Given the description of an element on the screen output the (x, y) to click on. 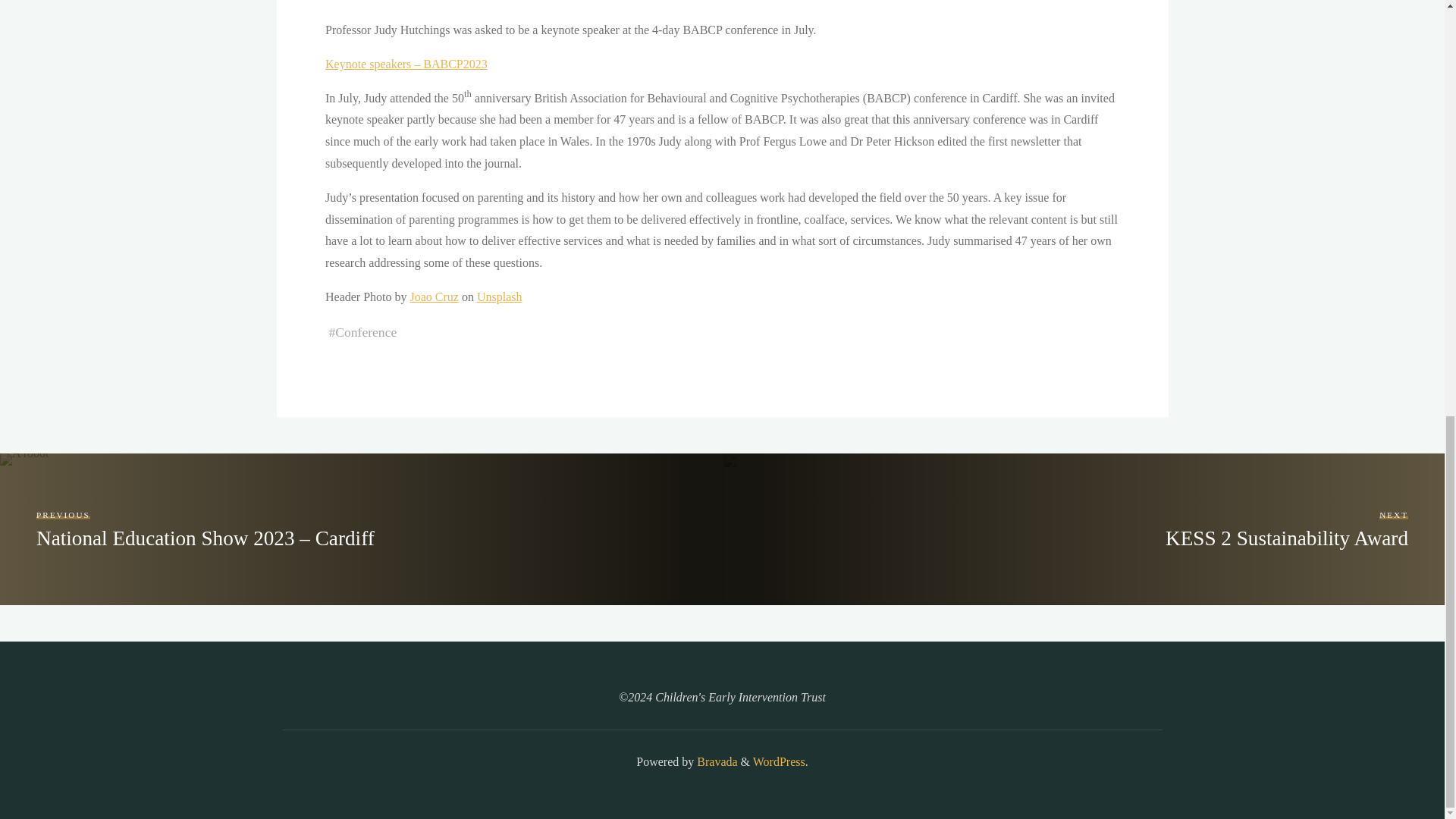
Joao Cruz (433, 296)
Bravada WordPress Theme by Cryout Creations (715, 761)
Unsplash (498, 296)
